Given the description of an element on the screen output the (x, y) to click on. 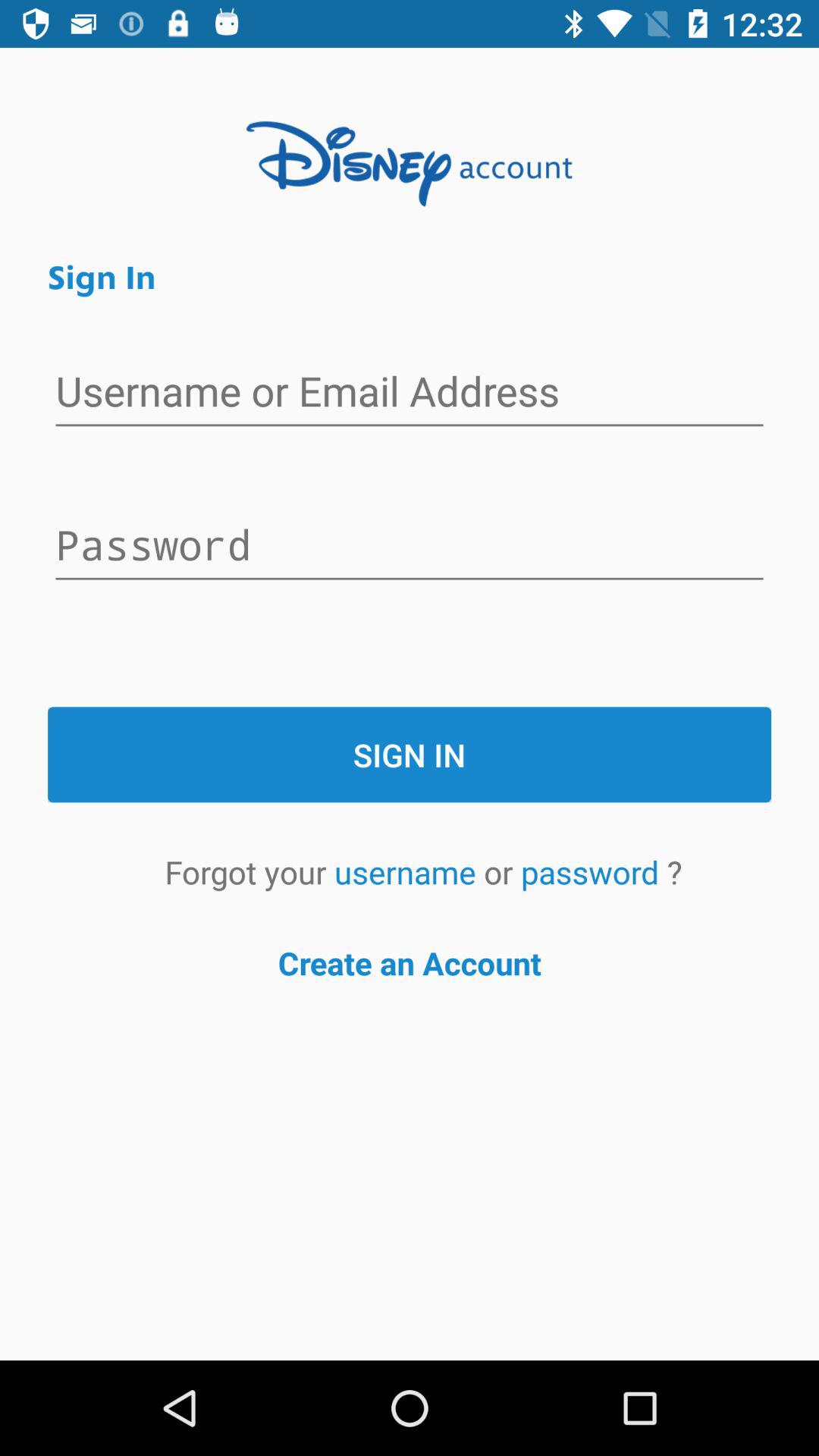
turn on icon below forgot your (409, 962)
